Given the description of an element on the screen output the (x, y) to click on. 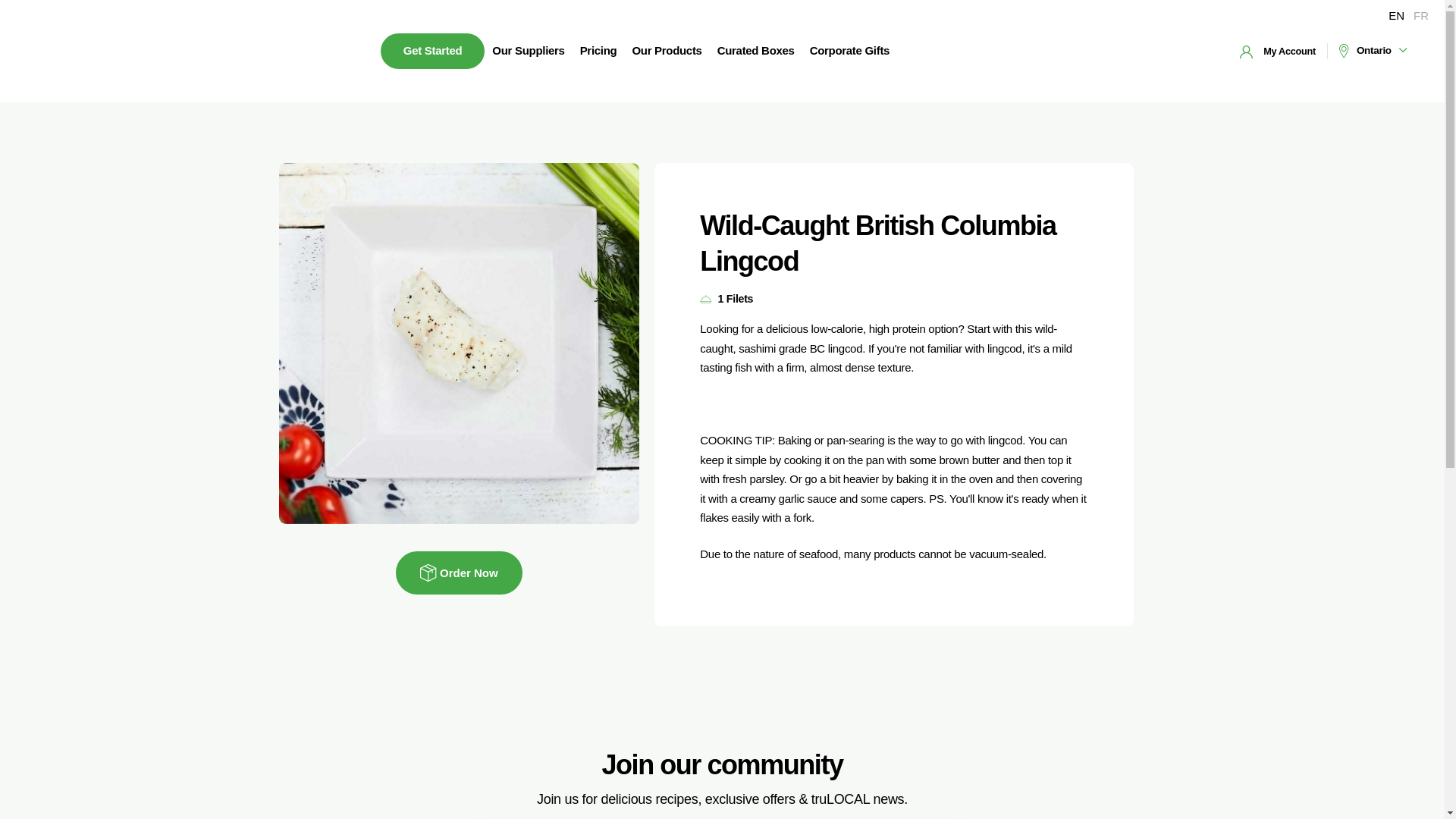
Our Products (666, 50)
EN (1396, 15)
FR (1420, 15)
My Account (1278, 51)
Our Suppliers (528, 50)
Corporate Gifts (850, 50)
EN (1396, 15)
Get Started (432, 50)
Pricing (598, 50)
FR (1420, 15)
